Given the description of an element on the screen output the (x, y) to click on. 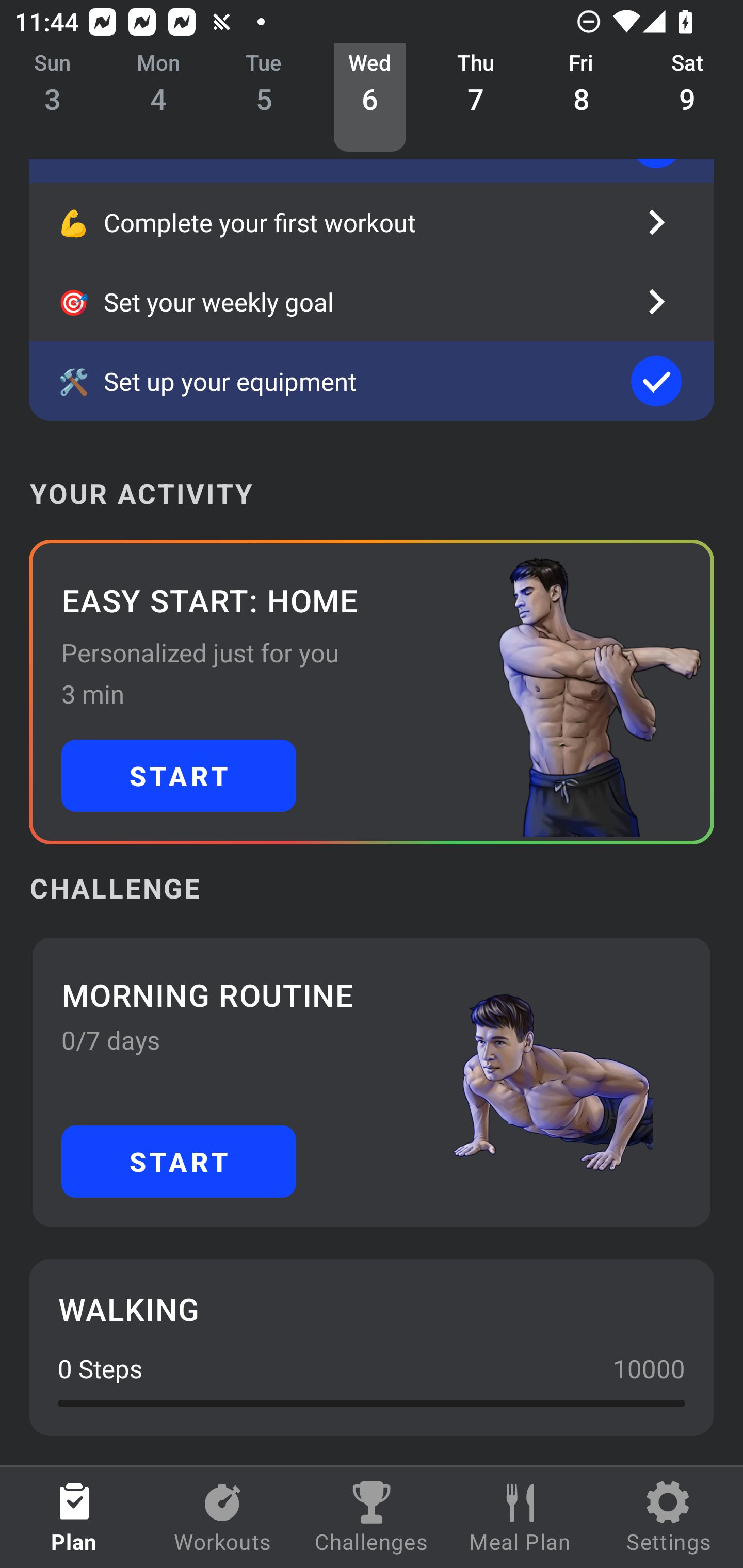
Sun 3 (52, 97)
Mon 4 (158, 97)
Tue 5 (264, 97)
Wed 6 (369, 97)
Thu 7 (475, 97)
Fri 8 (581, 97)
Sat 9 (687, 97)
💪 Complete your first workout (371, 221)
🎯 Set your weekly goal (371, 301)
START (178, 776)
MORNING ROUTINE 0/7 days START (371, 1082)
START (178, 1161)
WALKING 0 Steps 10000 0.0 (371, 1347)
 Workouts  (222, 1517)
 Challenges  (371, 1517)
 Meal Plan  (519, 1517)
 Settings  (668, 1517)
